Given the description of an element on the screen output the (x, y) to click on. 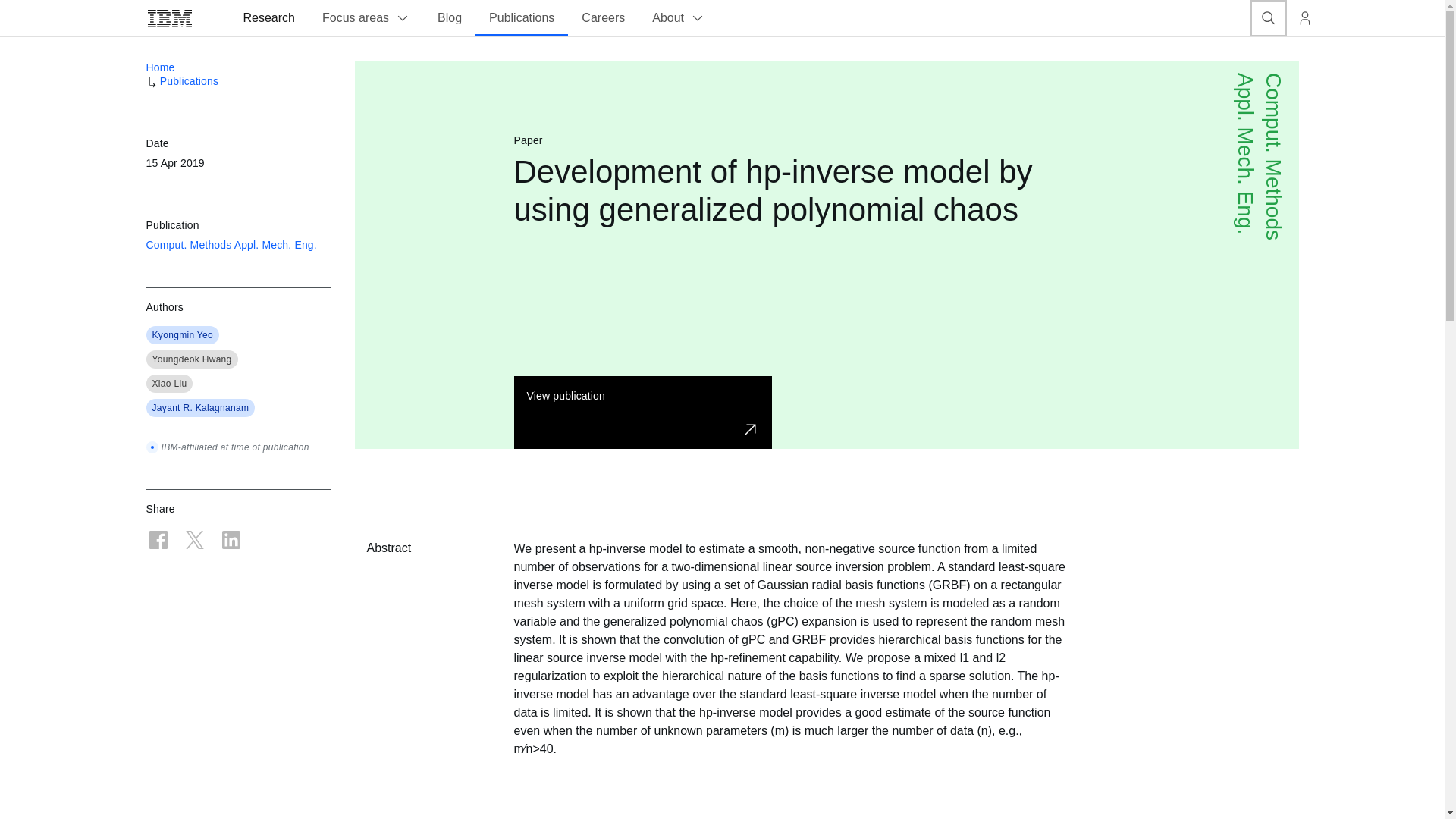
Youngdeok Hwang (191, 358)
Kyongmin Yeo (181, 335)
Jayant R. Kalagnanam (199, 408)
Xiao Liu (168, 383)
